Given the description of an element on the screen output the (x, y) to click on. 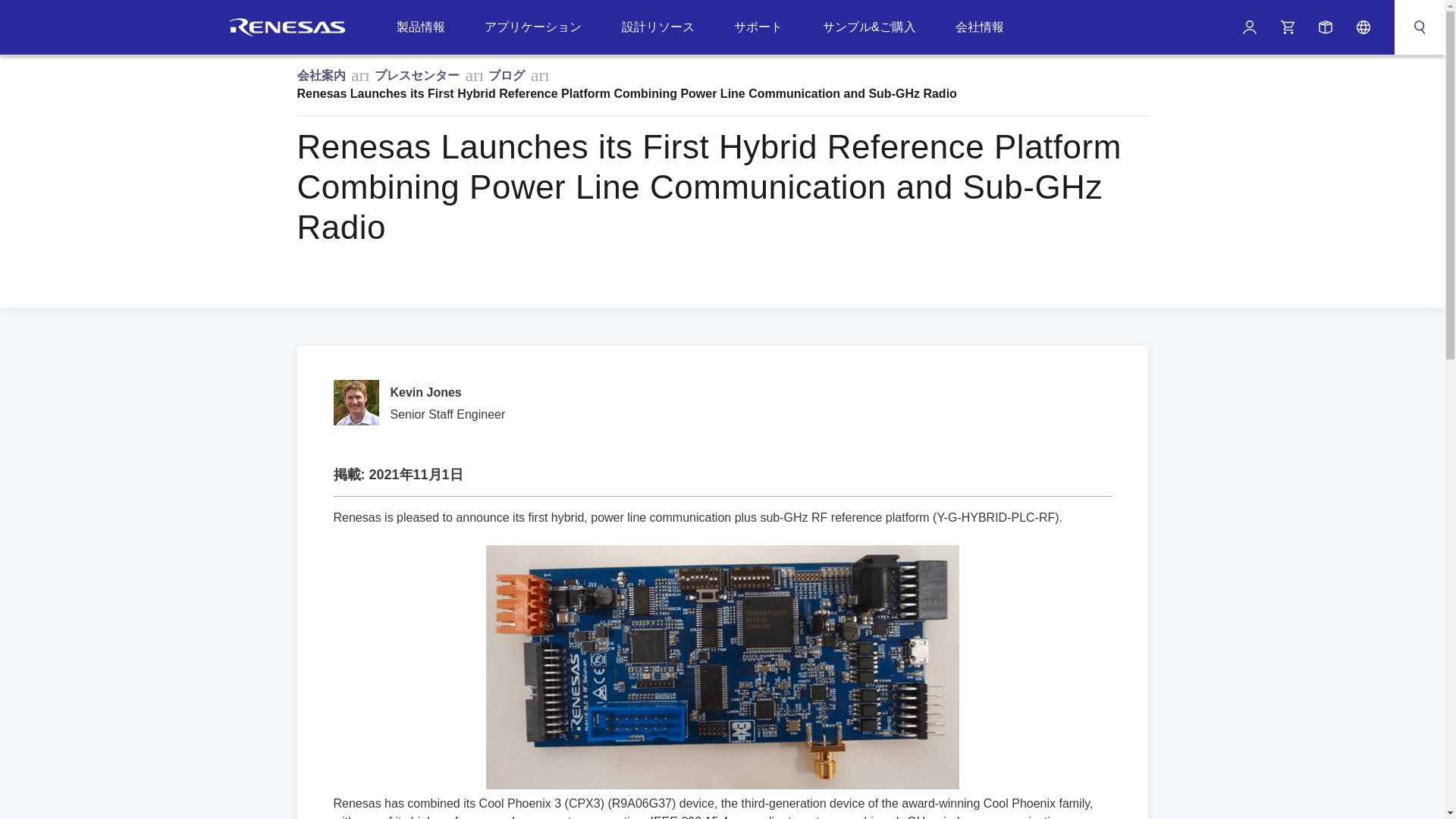
Language (1363, 27)
